Given the description of an element on the screen output the (x, y) to click on. 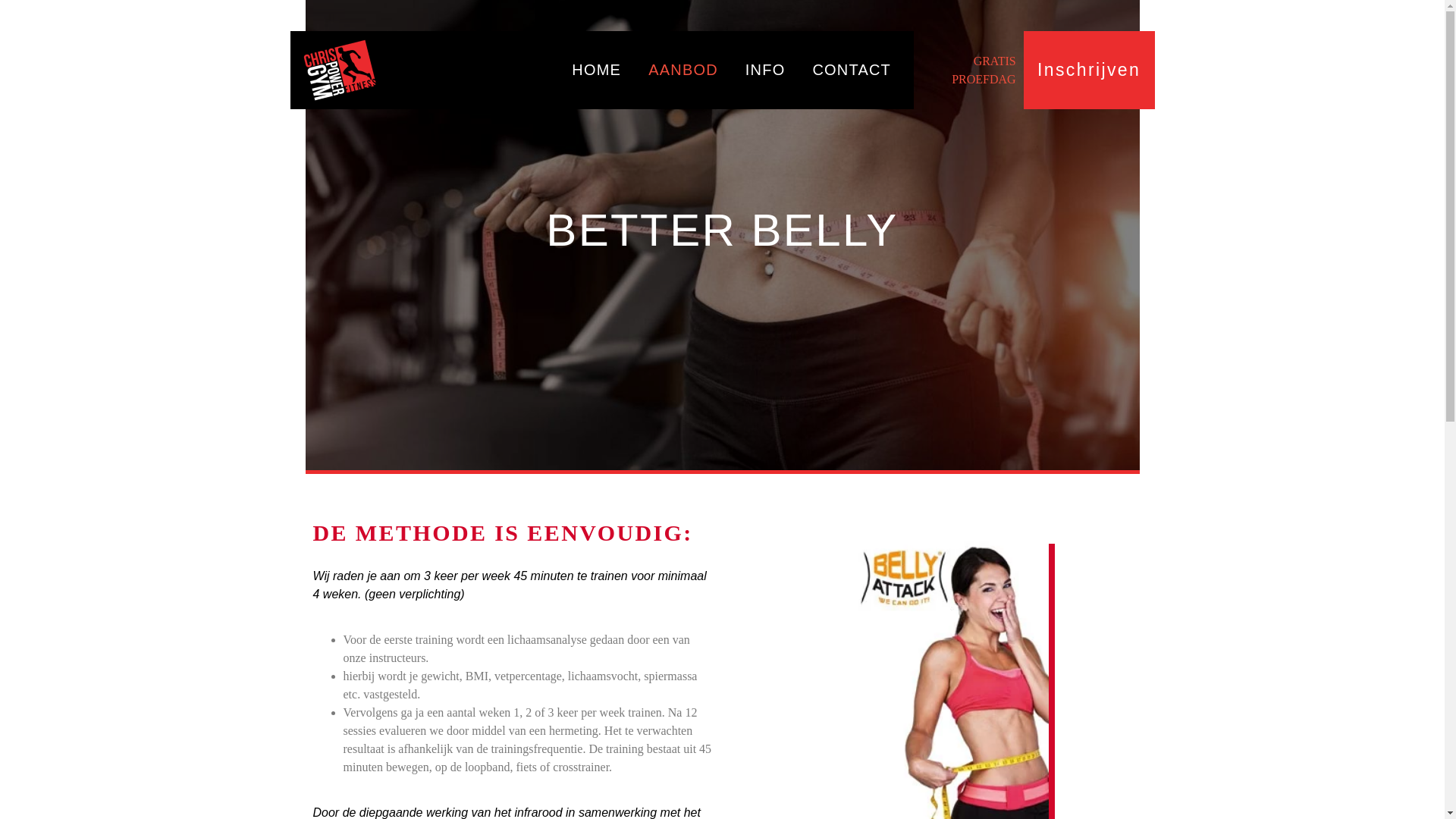
CONTACT Element type: text (851, 69)
INFO Element type: text (765, 69)
GRATIS PROEFDAG Element type: text (983, 69)
HOME Element type: text (596, 69)
AANBOD Element type: text (683, 69)
Inschrijven Element type: text (1088, 69)
ww-02 Element type: hover (339, 69)
